Given the description of an element on the screen output the (x, y) to click on. 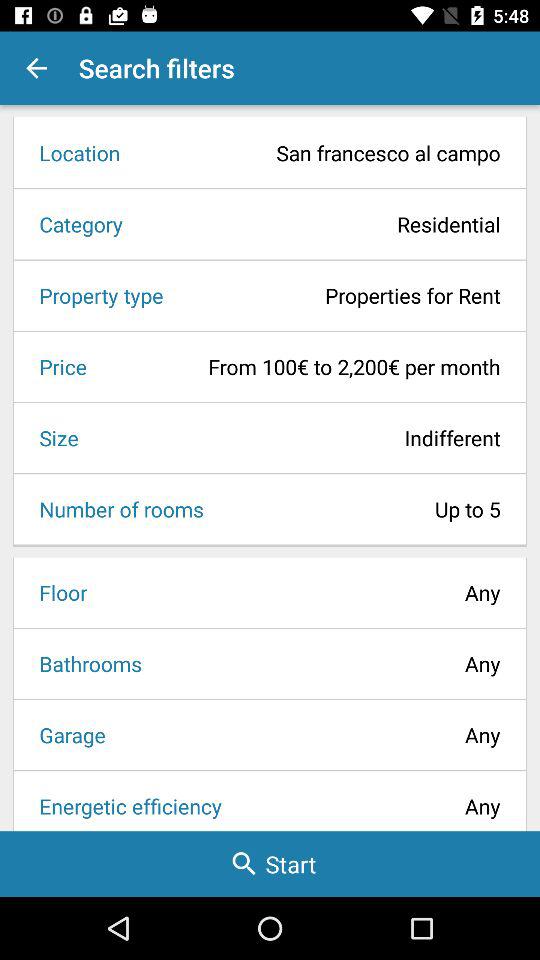
open the icon above property type icon (318, 224)
